Given the description of an element on the screen output the (x, y) to click on. 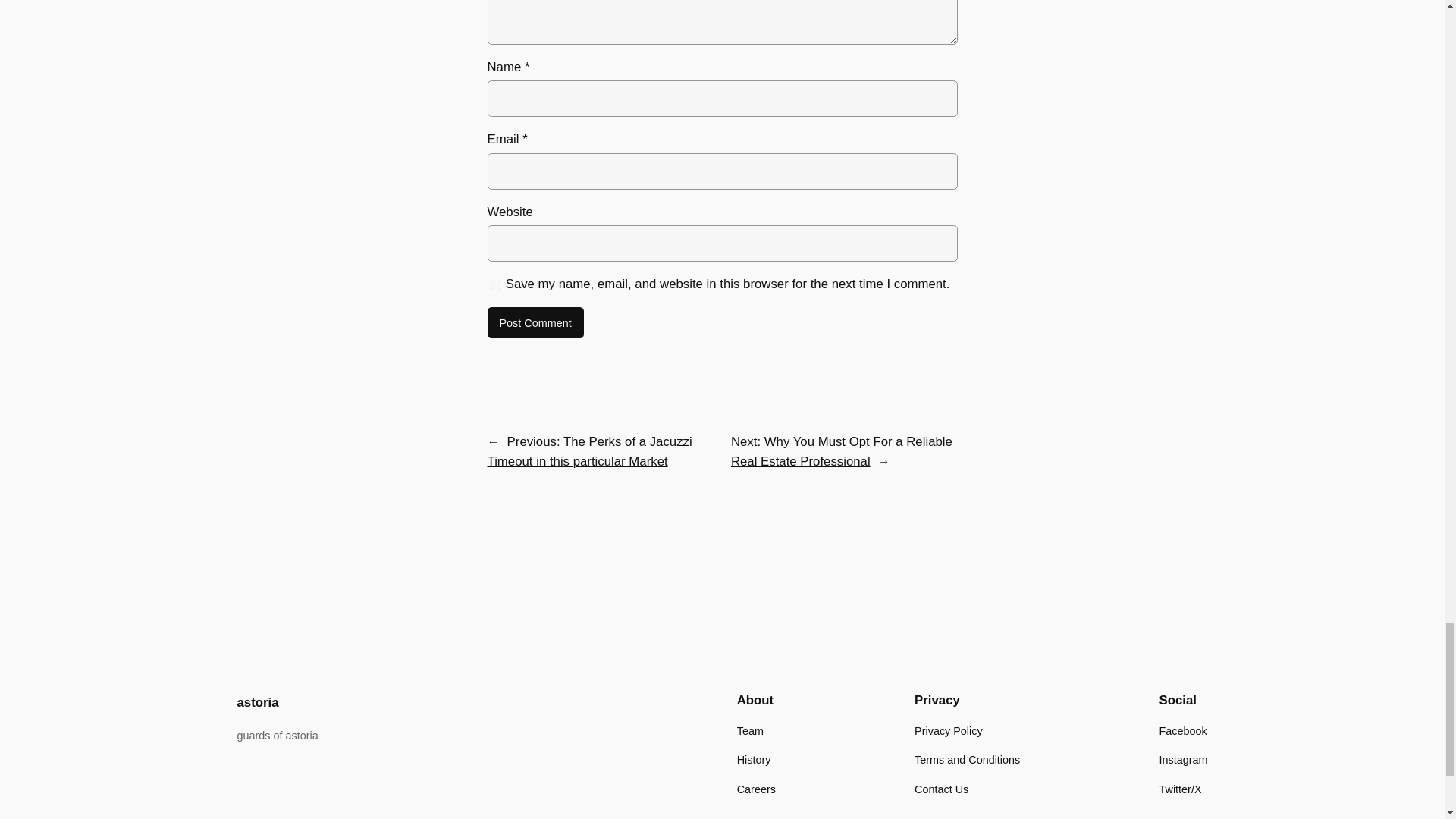
Post Comment (534, 323)
Privacy Policy (948, 730)
Team (749, 730)
yes (494, 285)
Contact Us (941, 789)
Careers (756, 789)
Terms and Conditions (967, 759)
Instagram (1182, 759)
Facebook (1182, 730)
Post Comment (534, 323)
astoria (256, 702)
History (753, 759)
